Given the description of an element on the screen output the (x, y) to click on. 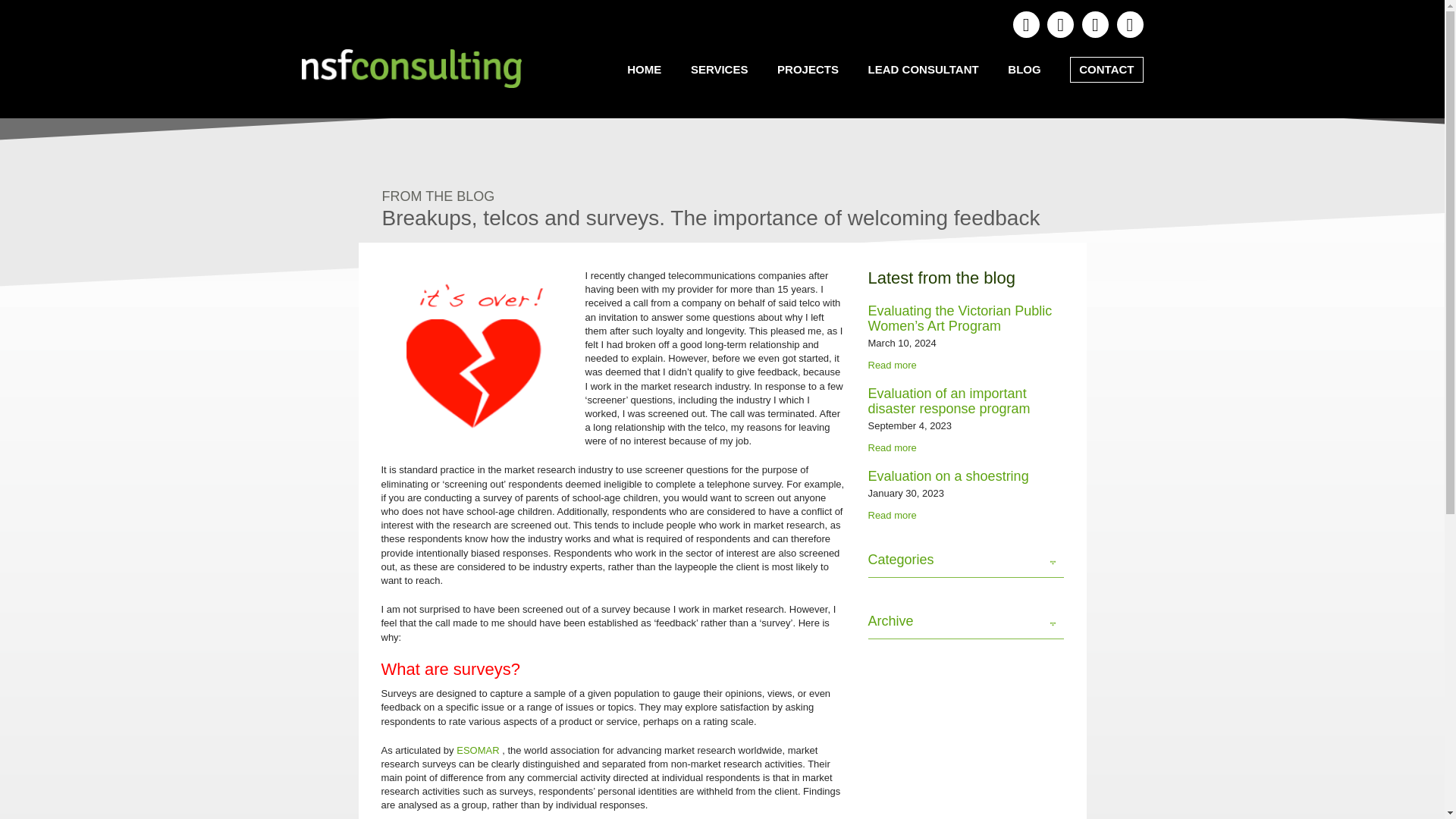
ESOMAR (479, 749)
LEAD CONSULTANT (923, 69)
ESOMAR (479, 749)
Read more (891, 514)
Read more (891, 447)
SERVICES (719, 69)
Categories (964, 565)
CONTACT (1105, 69)
Evaluation of an important disaster response program (948, 400)
HOME (643, 69)
